Given the description of an element on the screen output the (x, y) to click on. 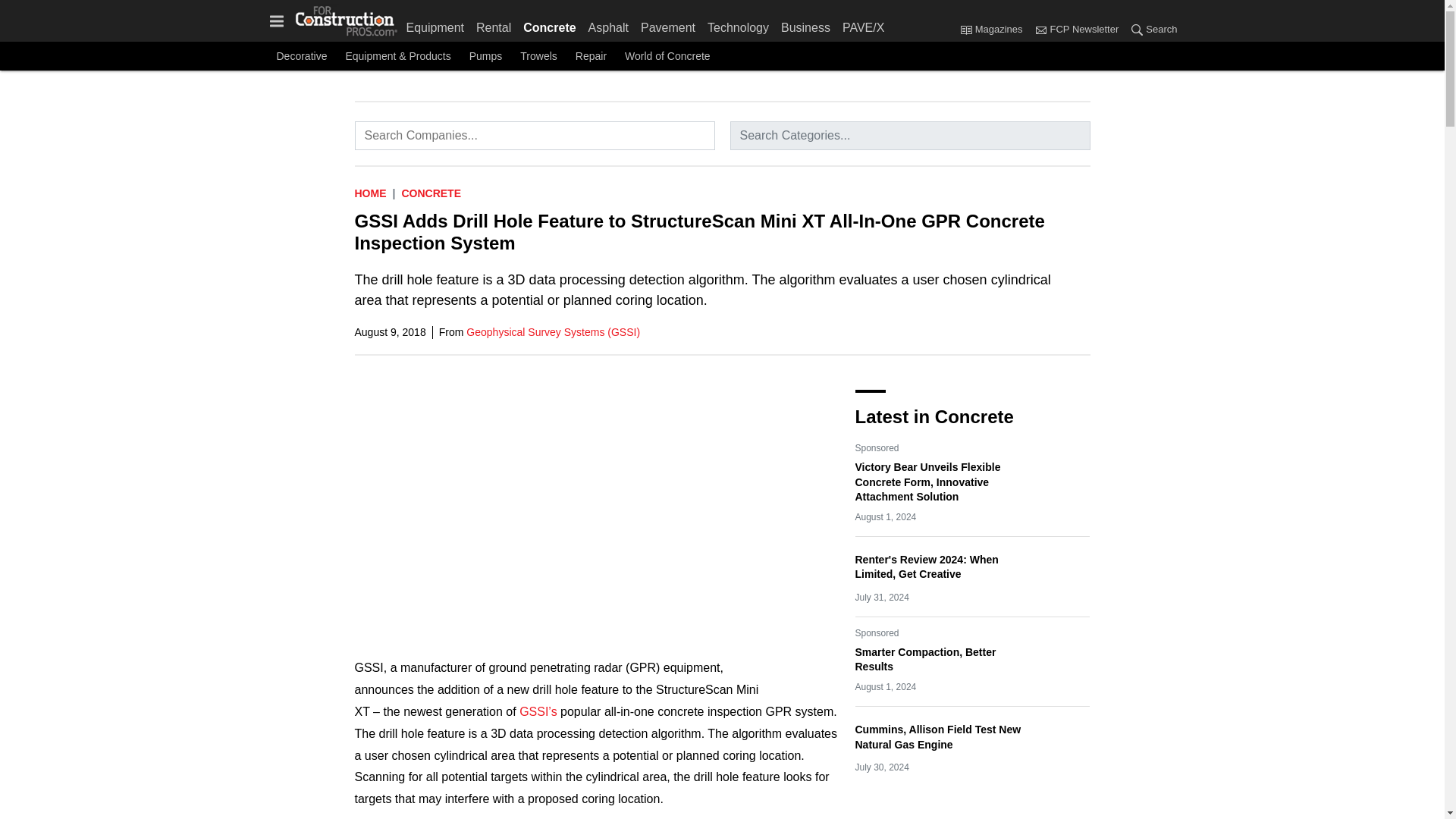
Magazines (994, 29)
Home (371, 193)
Concrete (548, 24)
Rental (493, 24)
Magazines (965, 29)
Repair (591, 55)
Technology (737, 24)
Pumps (485, 55)
Trowels (538, 55)
FCP Newsletter (1039, 29)
